Given the description of an element on the screen output the (x, y) to click on. 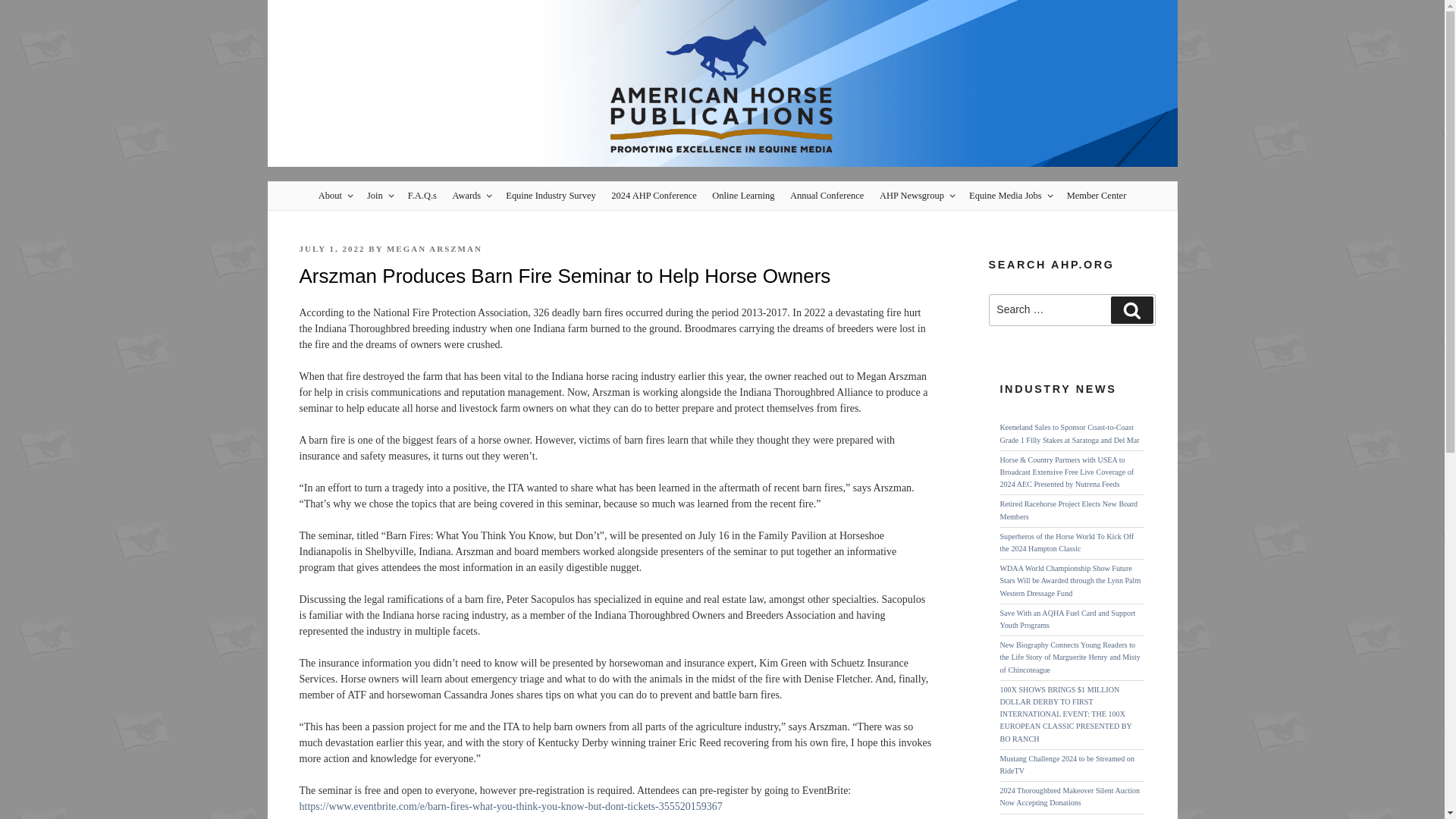
MEGAN ARSZMAN (434, 248)
F.A.Q.s (422, 196)
Save With an AQHA Fuel Card and Support Youth Programs (1066, 619)
Retired Racehorse Project Elects New Board Members (1067, 509)
Join (378, 196)
Awards (471, 196)
Annual Conference (826, 196)
JULY 1, 2022 (331, 248)
Equine Industry Survey (550, 196)
AHP Newsgroup (915, 196)
Online Learning (743, 196)
AMERICAN HORSE PUBLICATIONS (414, 202)
